Given the description of an element on the screen output the (x, y) to click on. 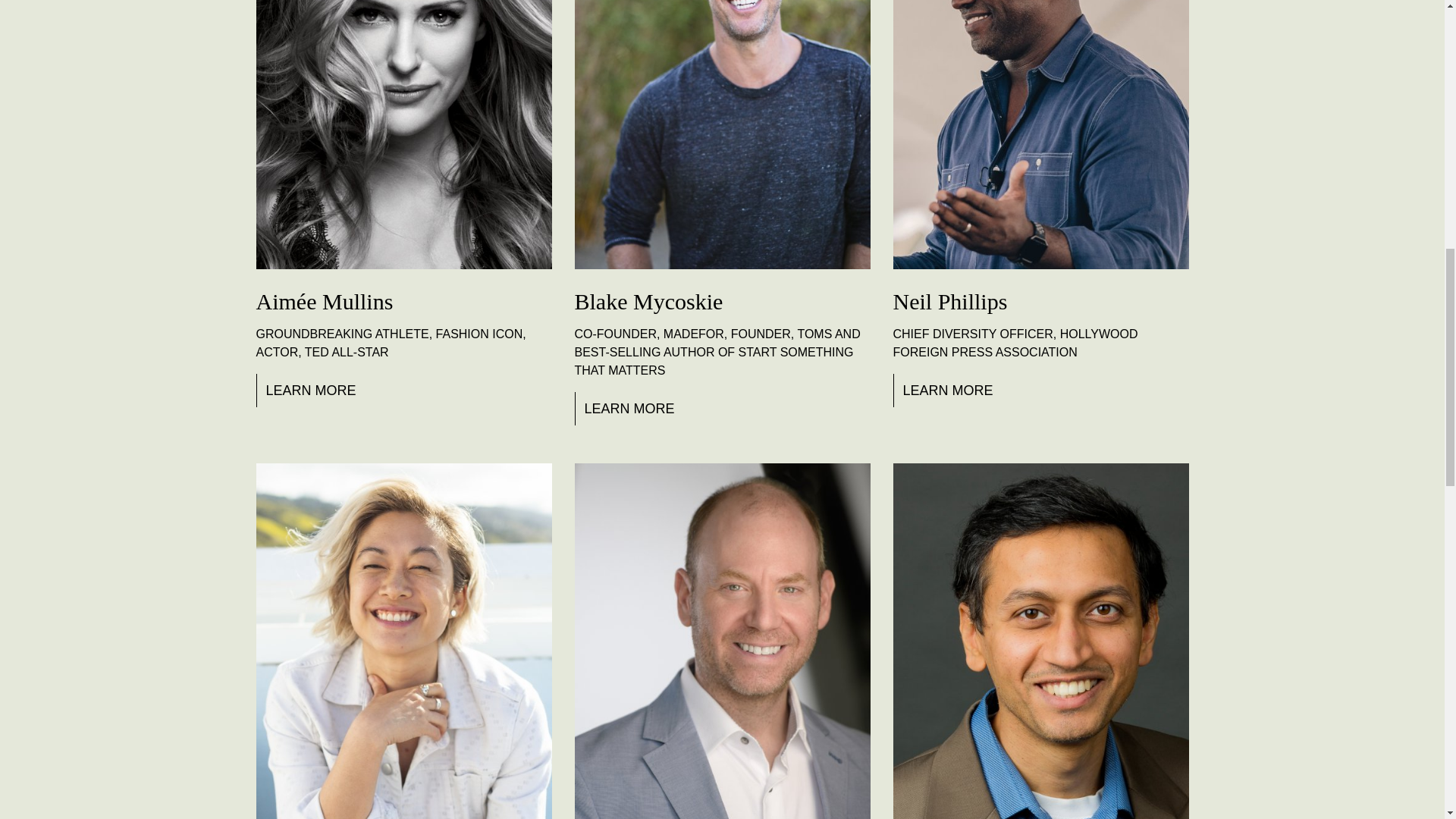
LEARN MORE (945, 390)
LEARN MORE (627, 408)
LEARN MORE (308, 390)
